Given the description of an element on the screen output the (x, y) to click on. 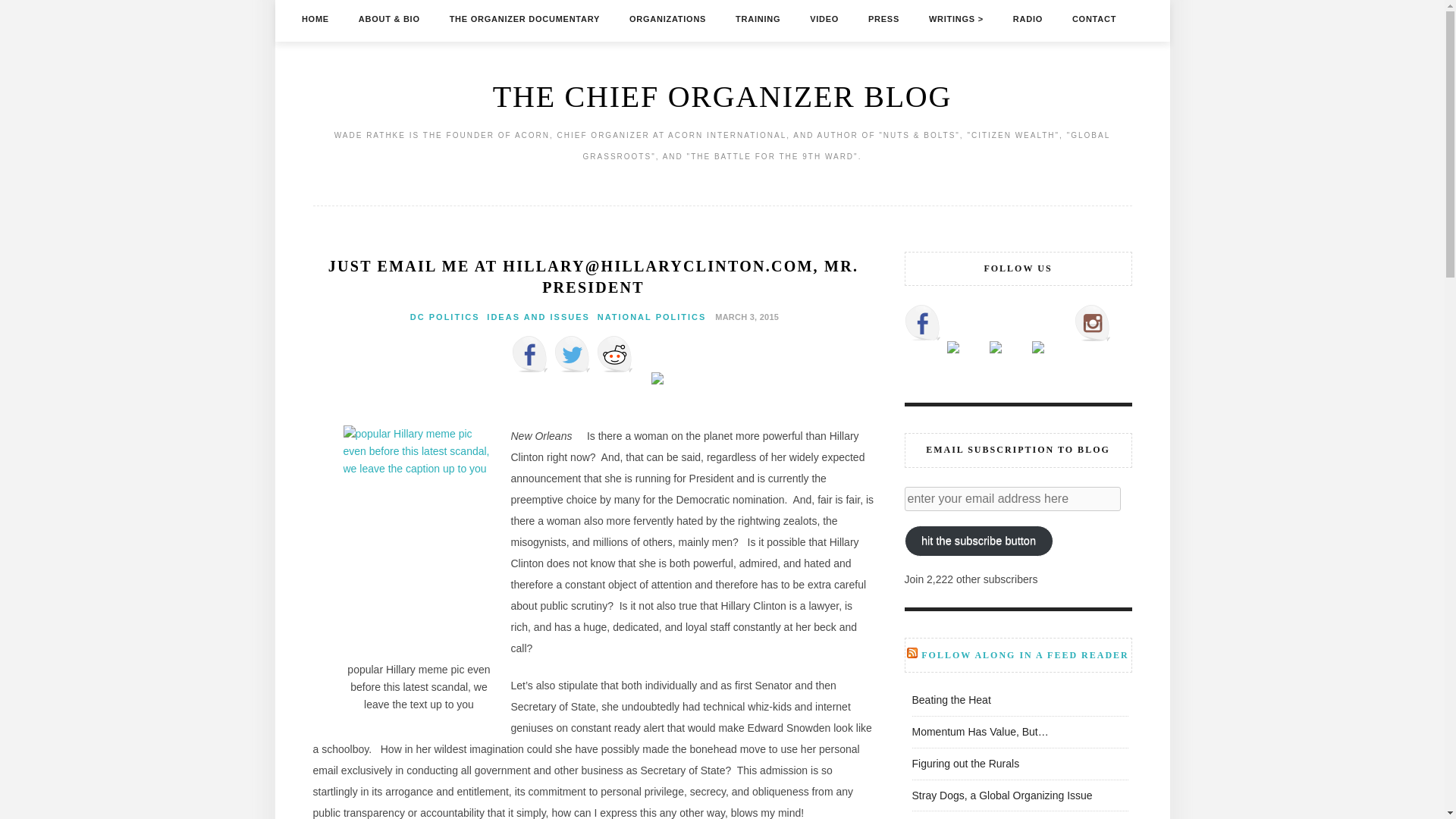
Share on Facebook (529, 353)
ORGANIZATIONS (667, 18)
Follow ACORN on Twitter (964, 359)
CONTACT (1093, 18)
Share on LinkedIn (656, 378)
Follow ACORN on Facebook (922, 322)
MARCH 3, 2015 (744, 316)
IDEAS AND ISSUES (537, 316)
THE CHIEF ORGANIZER BLOG (722, 96)
hit the subscribe button (978, 540)
NATIONAL POLITICS (651, 316)
Share on Twitter (571, 353)
Share on LinkedIn (657, 390)
Share on Reddit (613, 353)
TRAINING (757, 18)
